Given the description of an element on the screen output the (x, y) to click on. 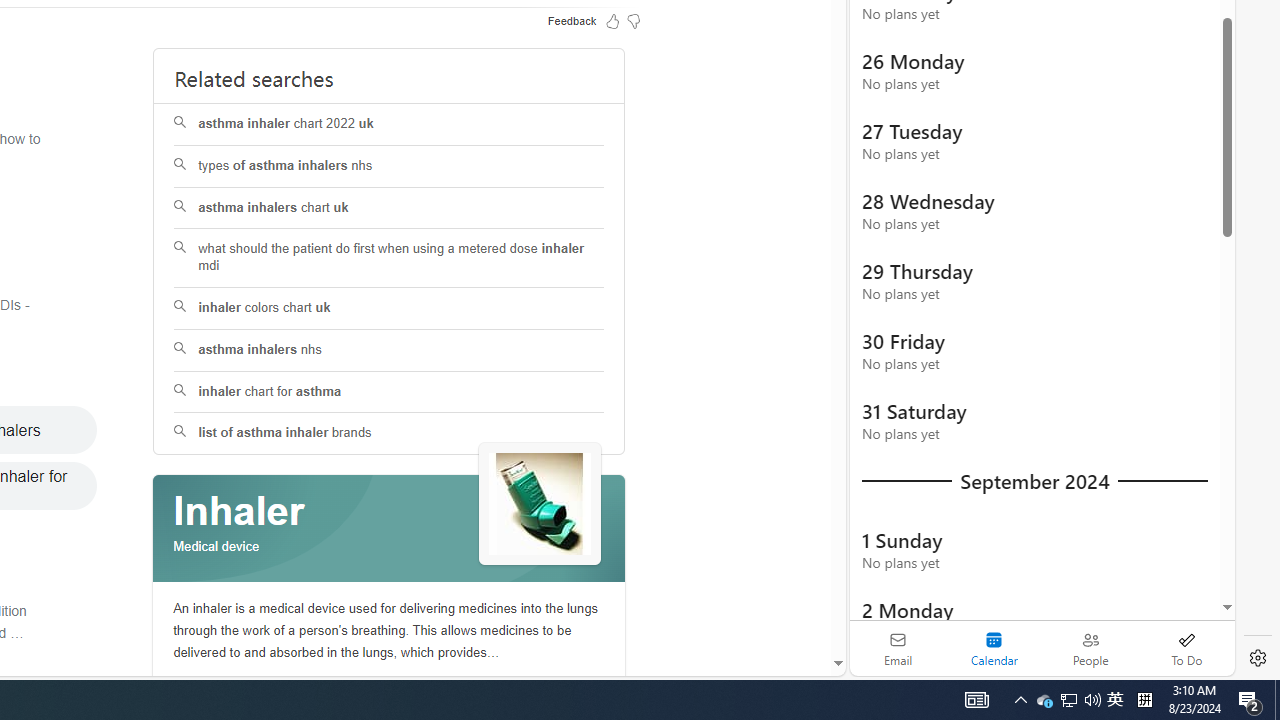
Email (898, 648)
asthma inhalers chart uk (389, 208)
See more images of Inhaler (539, 505)
asthma inhalers chart uk (388, 207)
inhaler colors chart uk (389, 308)
list of asthma inhaler brands (388, 434)
asthma inhaler chart 2022 uk (389, 124)
types of asthma inhalers nhs (389, 165)
Class: spl_logobg (389, 529)
